Given the description of an element on the screen output the (x, y) to click on. 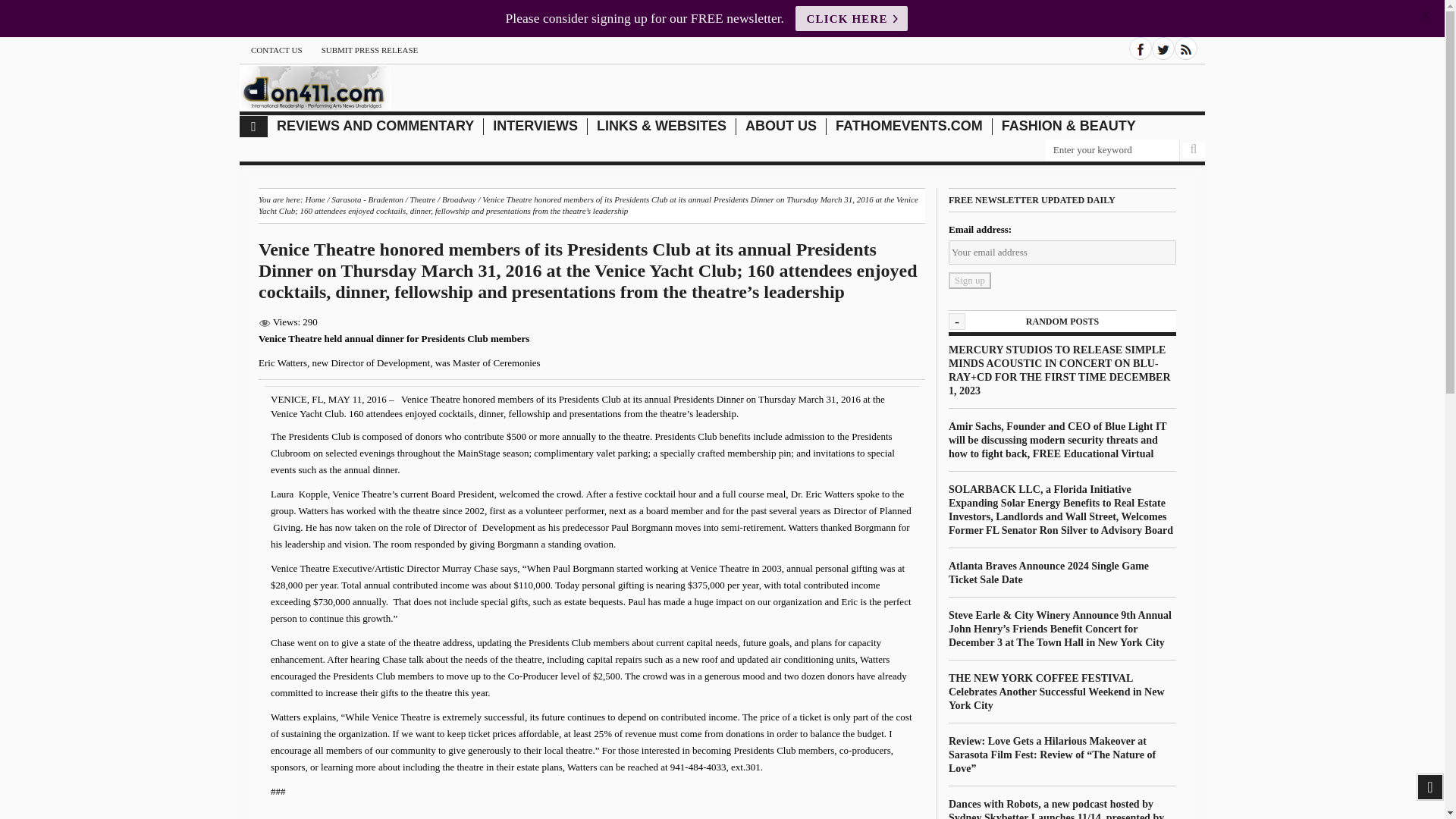
INTERVIEWS (535, 125)
Enter your keyword (1112, 150)
Sign up (970, 280)
Enter your keyword (1112, 150)
Facebook (1140, 47)
CONTACT US (276, 49)
REVIEWS AND COMMENTARY (375, 125)
FATHOMEVENTS.COM (908, 125)
Sarasota - Bradenton (367, 198)
Home (314, 198)
RSS (1185, 47)
Home (253, 126)
ABOUT US (780, 125)
SUBMIT PRESS RELEASE (370, 49)
Twitter (1162, 47)
